Given the description of an element on the screen output the (x, y) to click on. 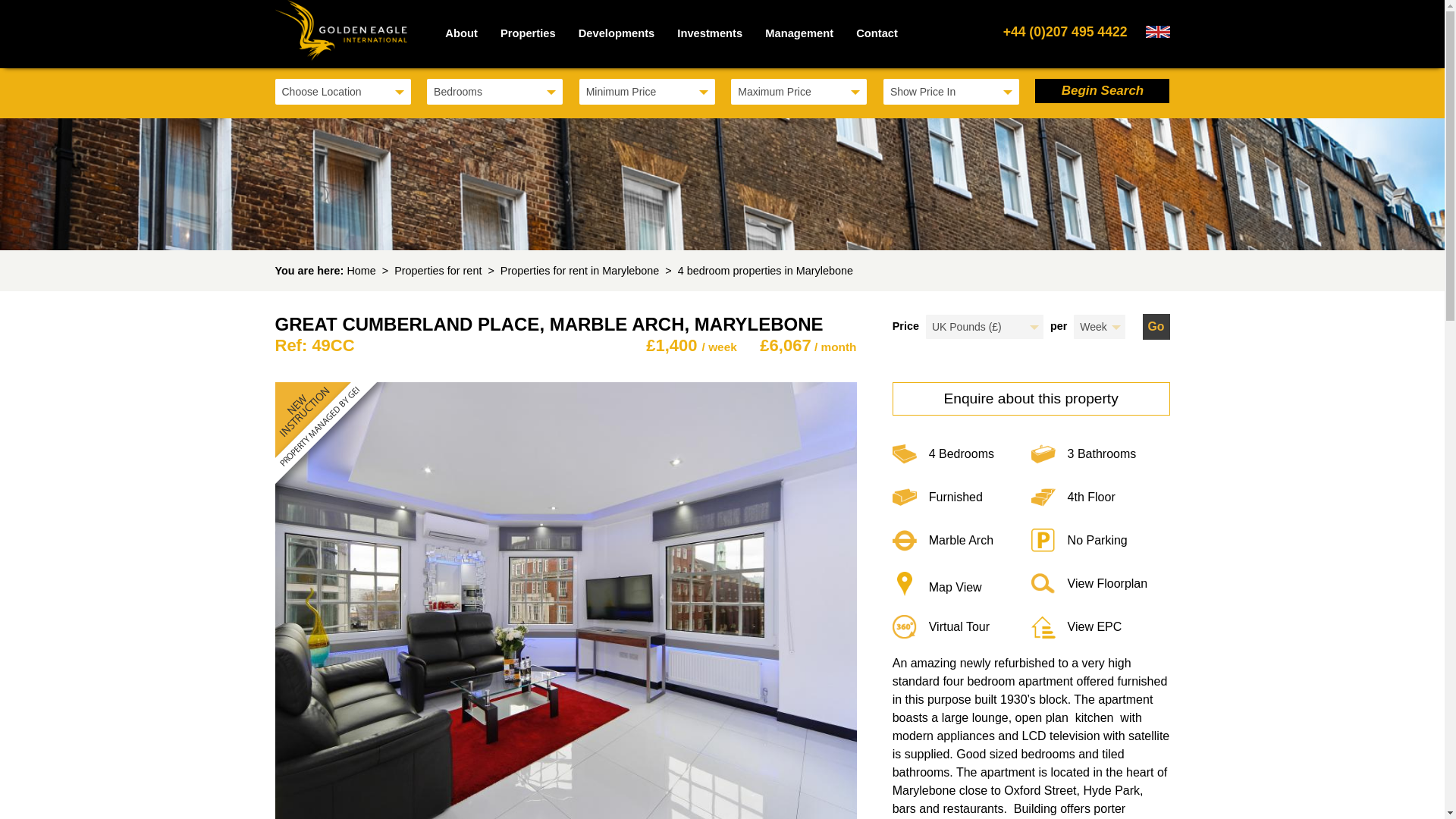
Developments (616, 33)
4 bedroom properties in Marylebone (765, 270)
Go (1155, 326)
Properties (528, 33)
Go (1155, 326)
Begin Search (1102, 90)
Properties for rent in Marylebone (579, 270)
Properties for rent (437, 270)
About (461, 33)
Home (360, 270)
